Given the description of an element on the screen output the (x, y) to click on. 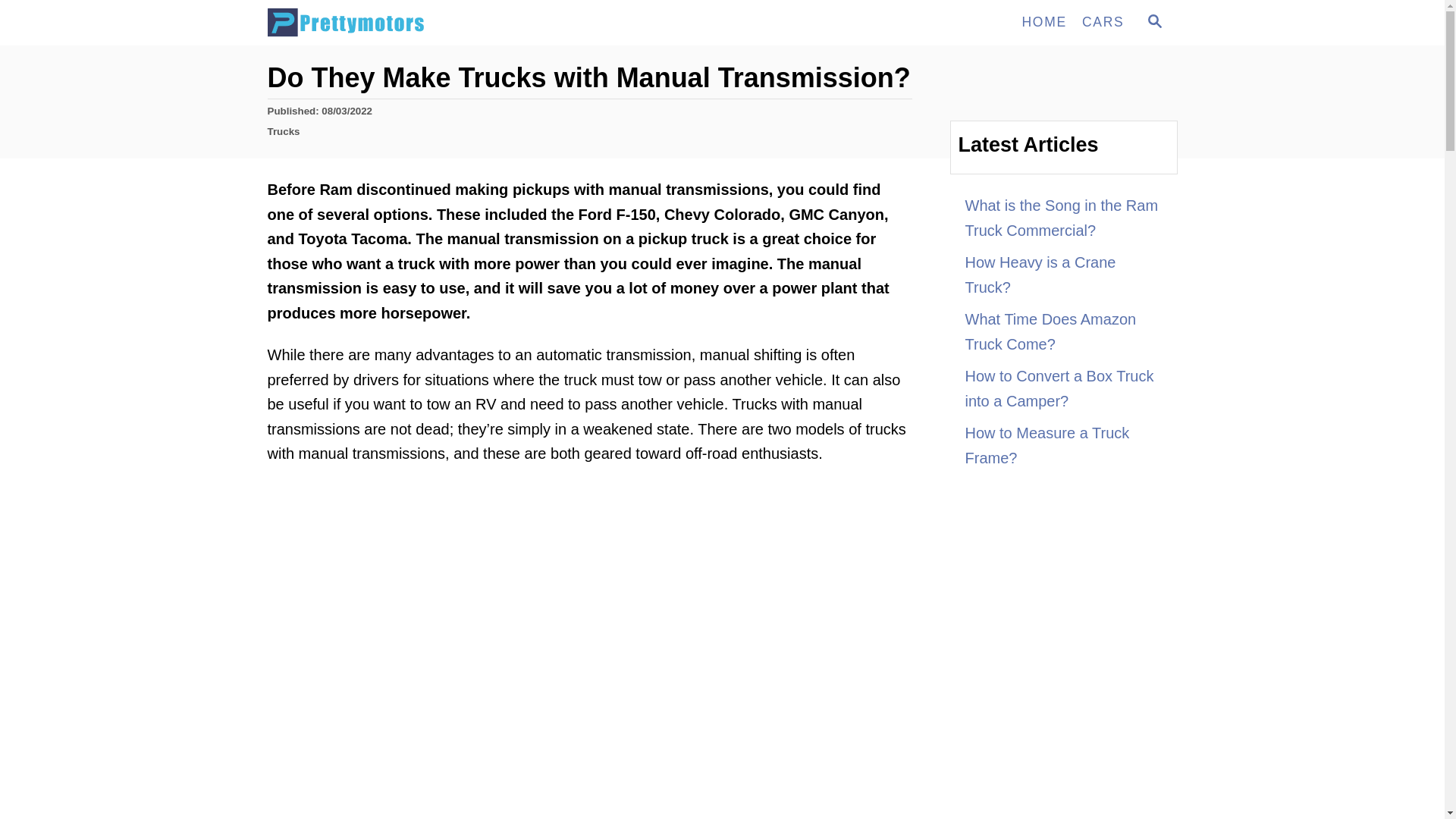
Trucks (282, 131)
Prettymotors (403, 22)
How to Measure a Truck Frame? (1062, 445)
What Time Does Amazon Truck Come? (1062, 331)
CARS (1103, 22)
How Heavy is a Crane Truck? (1062, 274)
What is the Song in the Ram Truck Commercial? (1062, 217)
How to Convert a Box Truck into a Camper? (1153, 22)
MAGNIFYING GLASS (1062, 388)
HOME (1153, 21)
